Given the description of an element on the screen output the (x, y) to click on. 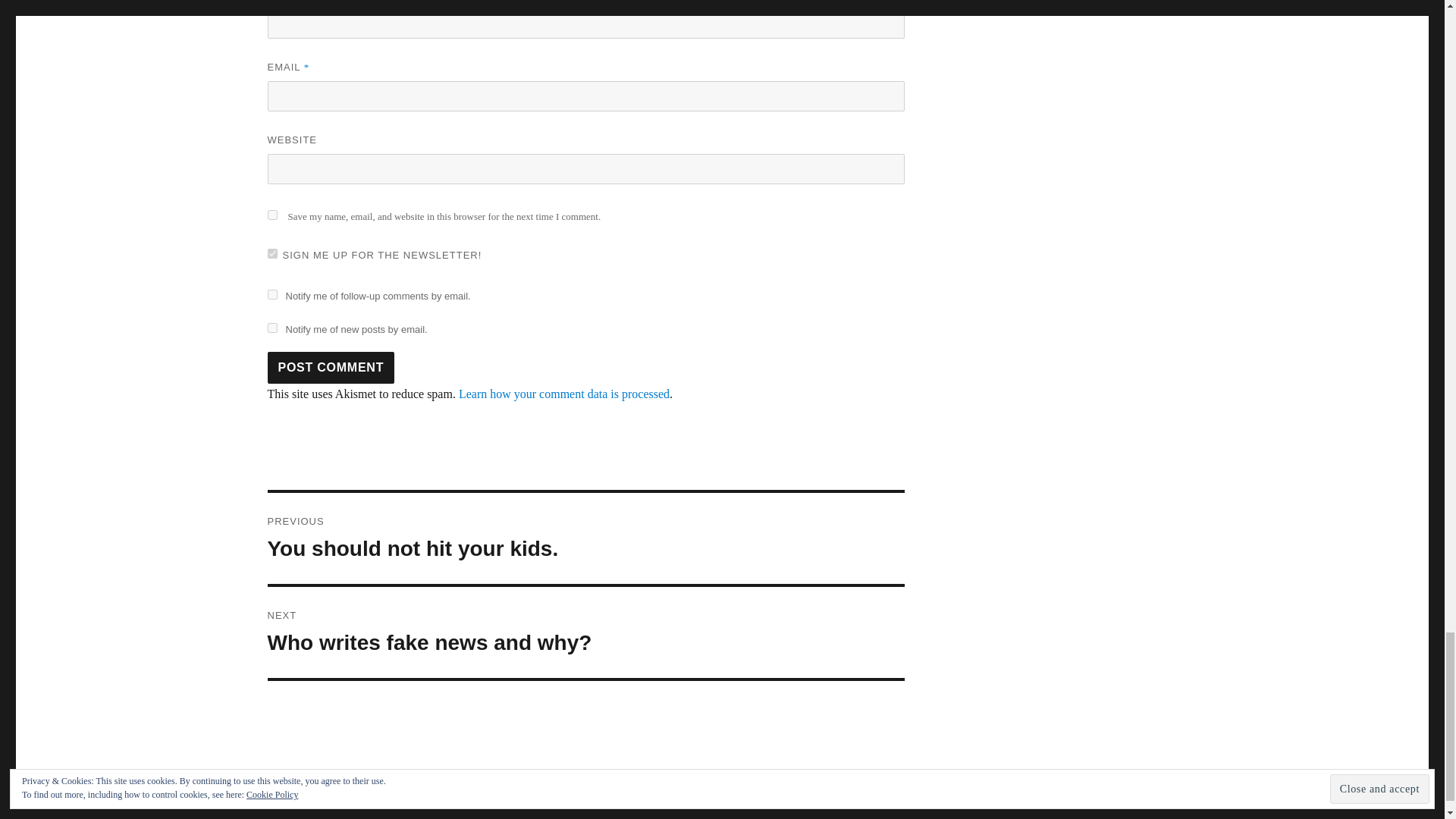
Post Comment (330, 368)
Post Comment (330, 368)
Learn how your comment data is processed (563, 393)
1 (271, 253)
yes (271, 214)
subscribe (271, 327)
subscribe (585, 632)
